Given the description of an element on the screen output the (x, y) to click on. 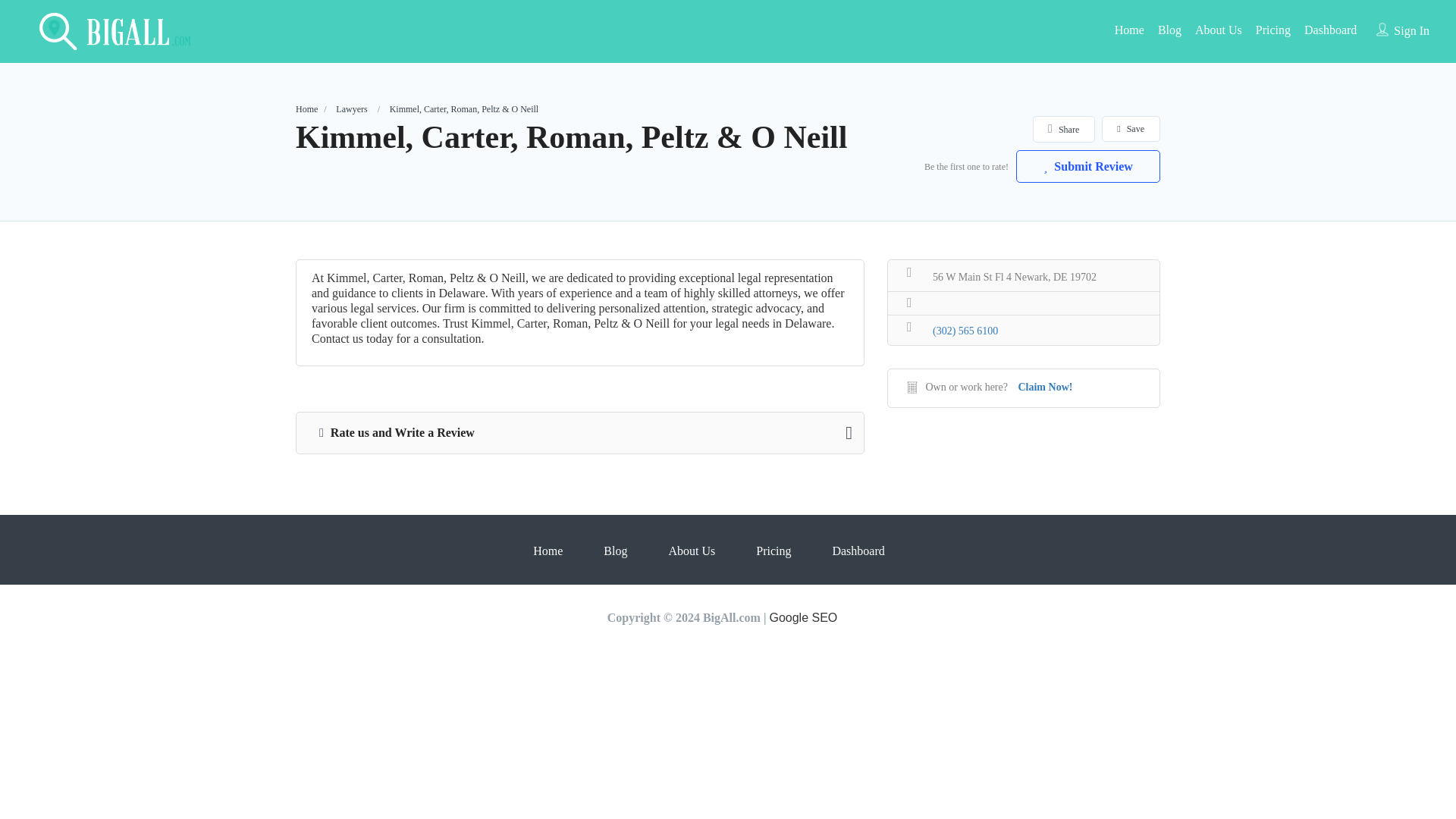
About Us (1218, 29)
Submit Review (1088, 165)
Save (1129, 128)
Sign In (1411, 30)
Submit (419, 500)
Pricing (1272, 29)
56 W Main St Fl 4 Newark, DE 19702 (1023, 274)
Claim Now! (1045, 387)
Home (306, 109)
Blog (1168, 29)
Home (1129, 29)
Dashboard (1330, 29)
Share (1063, 129)
Lawyers (351, 109)
